Given the description of an element on the screen output the (x, y) to click on. 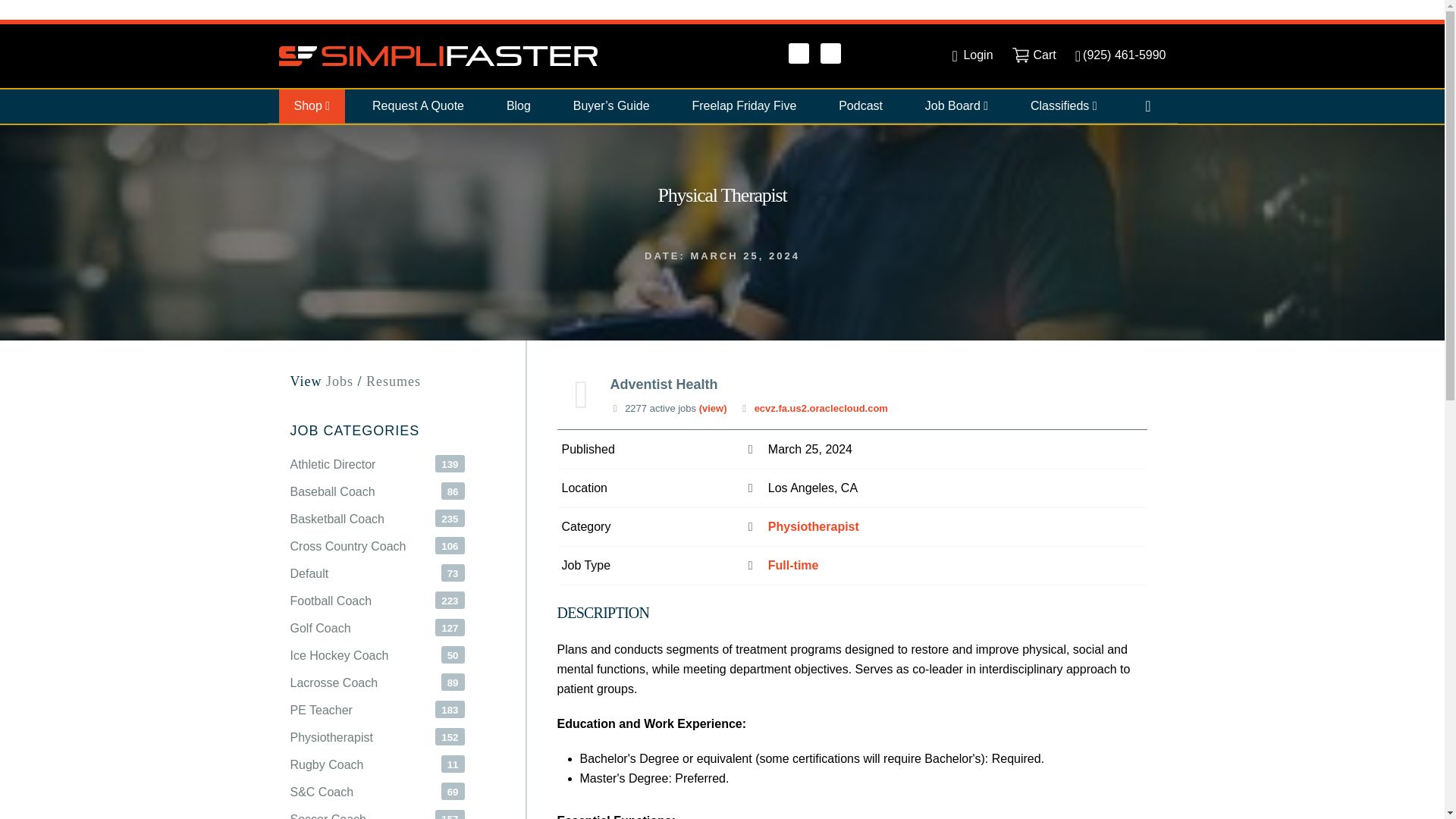
Full-time (793, 564)
Request A Quote (417, 106)
ecvz.fa.us2.oraclecloud.com (821, 408)
Physiotherapist (813, 526)
Freelap Friday Five (743, 106)
Classifieds (1063, 106)
Login (972, 54)
Cart (1034, 54)
Podcast (861, 106)
Shop (312, 106)
Job Board (956, 106)
Blog (519, 106)
